Given the description of an element on the screen output the (x, y) to click on. 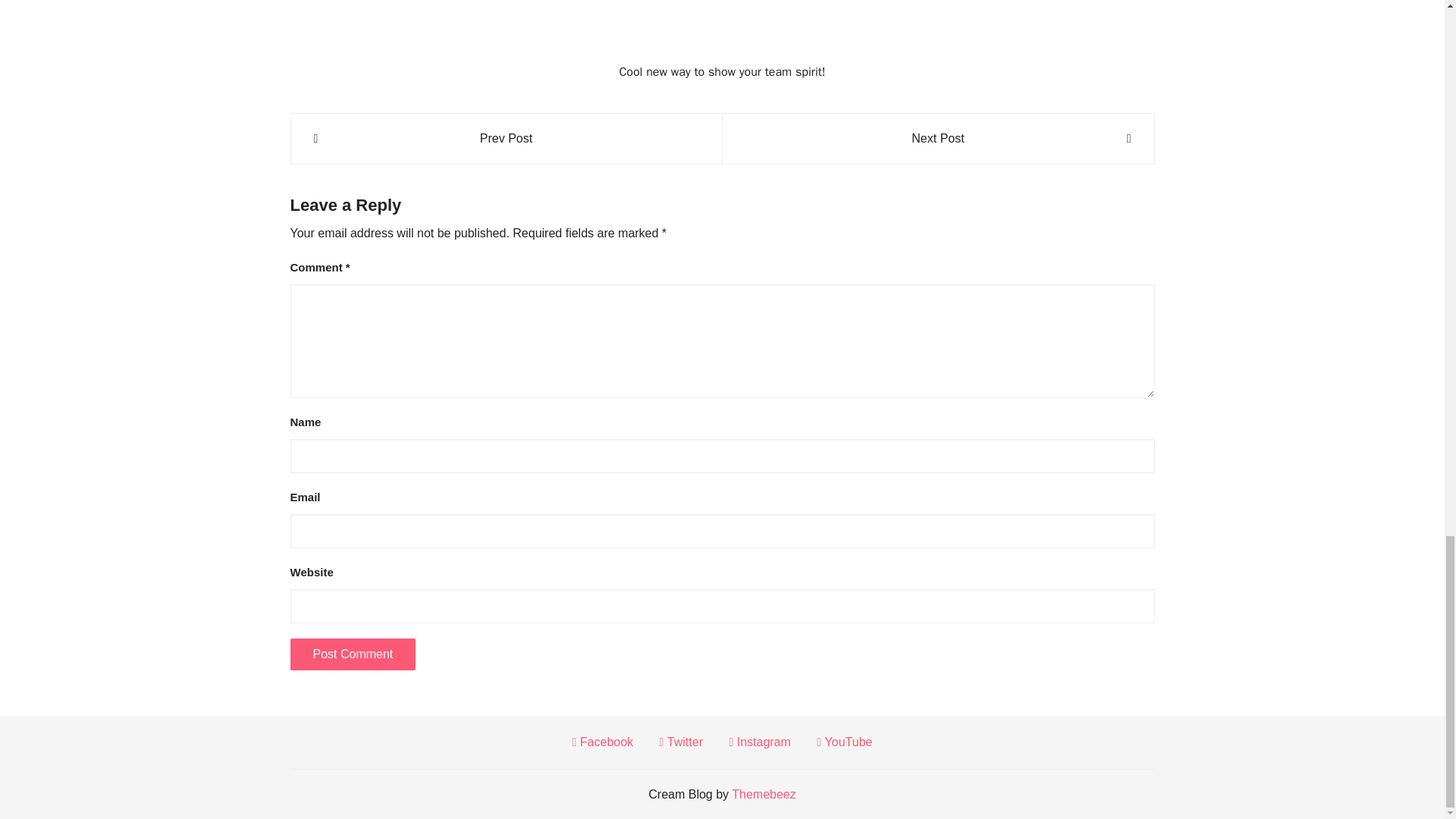
Twitter (681, 742)
Next Post (937, 138)
Post Comment (351, 654)
Post Comment (351, 654)
Prev Post (506, 138)
YouTube (844, 742)
Themebeez (764, 793)
Facebook (602, 742)
Instagram (759, 742)
